Given the description of an element on the screen output the (x, y) to click on. 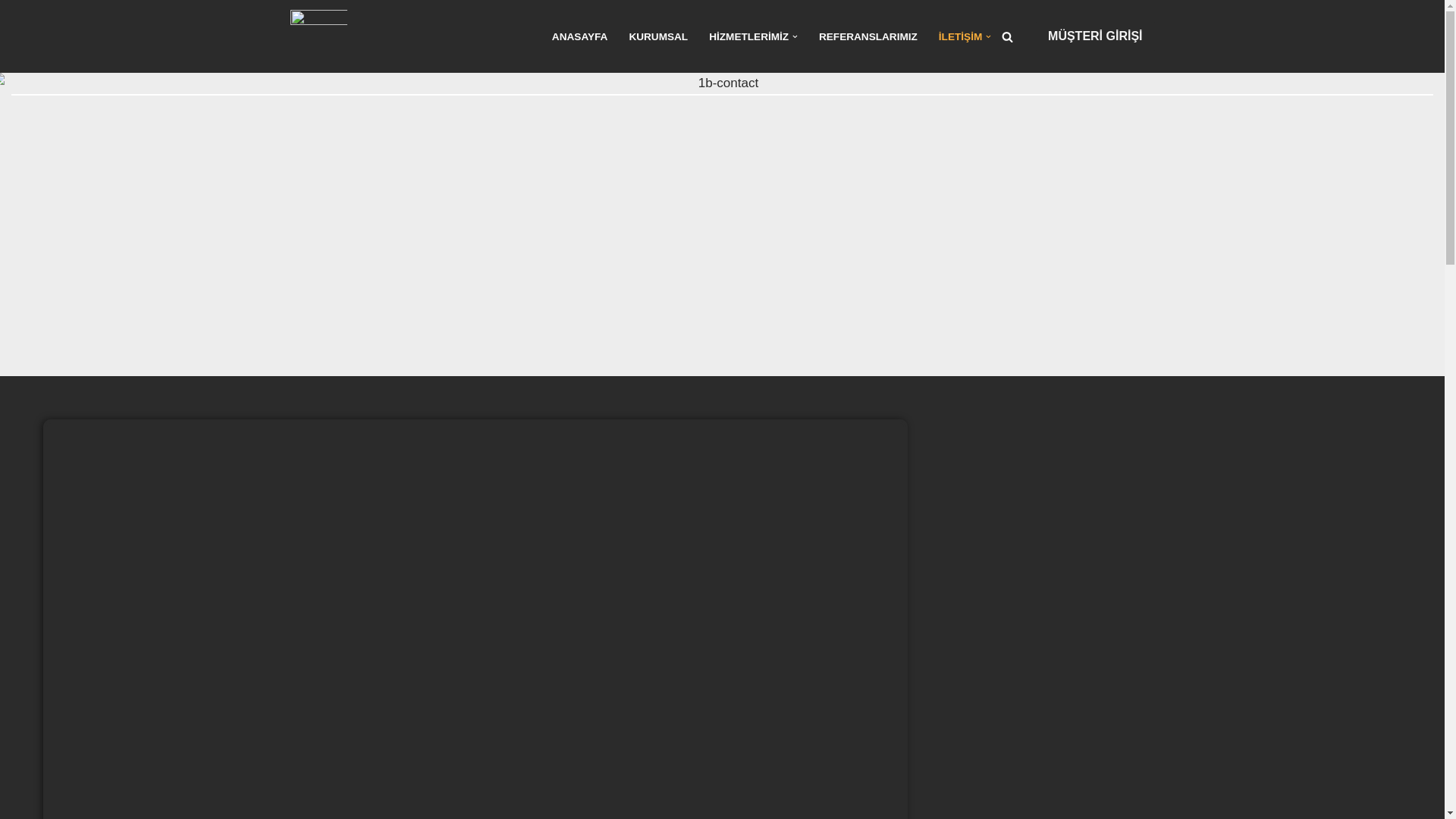
REFERANSLARIMIZ Element type: text (868, 36)
KURUMSAL Element type: text (657, 36)
ANASAYFA Element type: text (580, 36)
